Given the description of an element on the screen output the (x, y) to click on. 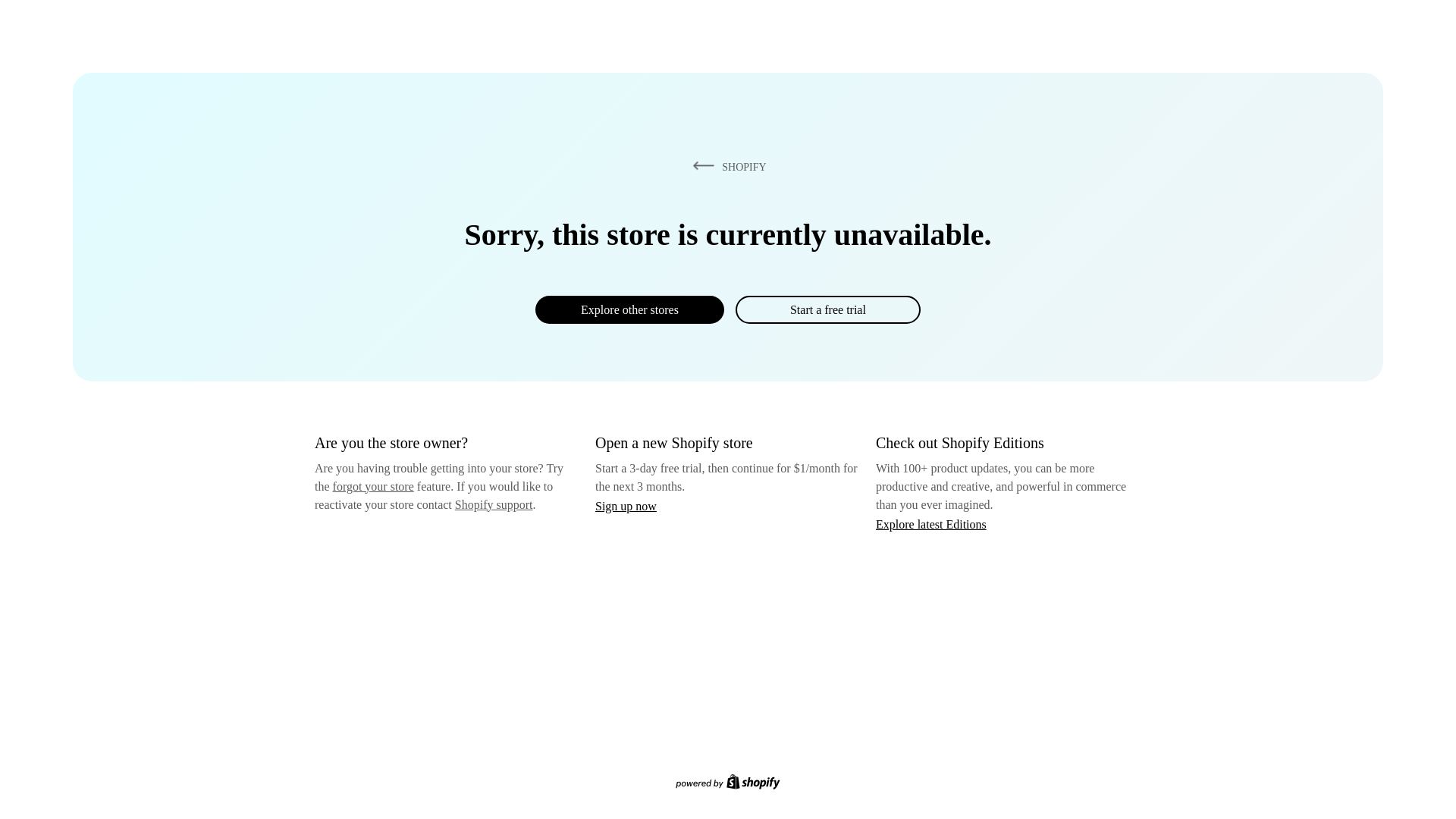
Start a free trial (827, 309)
Explore latest Editions (931, 523)
Shopify support (493, 504)
forgot your store (373, 486)
Explore other stores (629, 309)
Sign up now (625, 505)
SHOPIFY (726, 166)
